Given the description of an element on the screen output the (x, y) to click on. 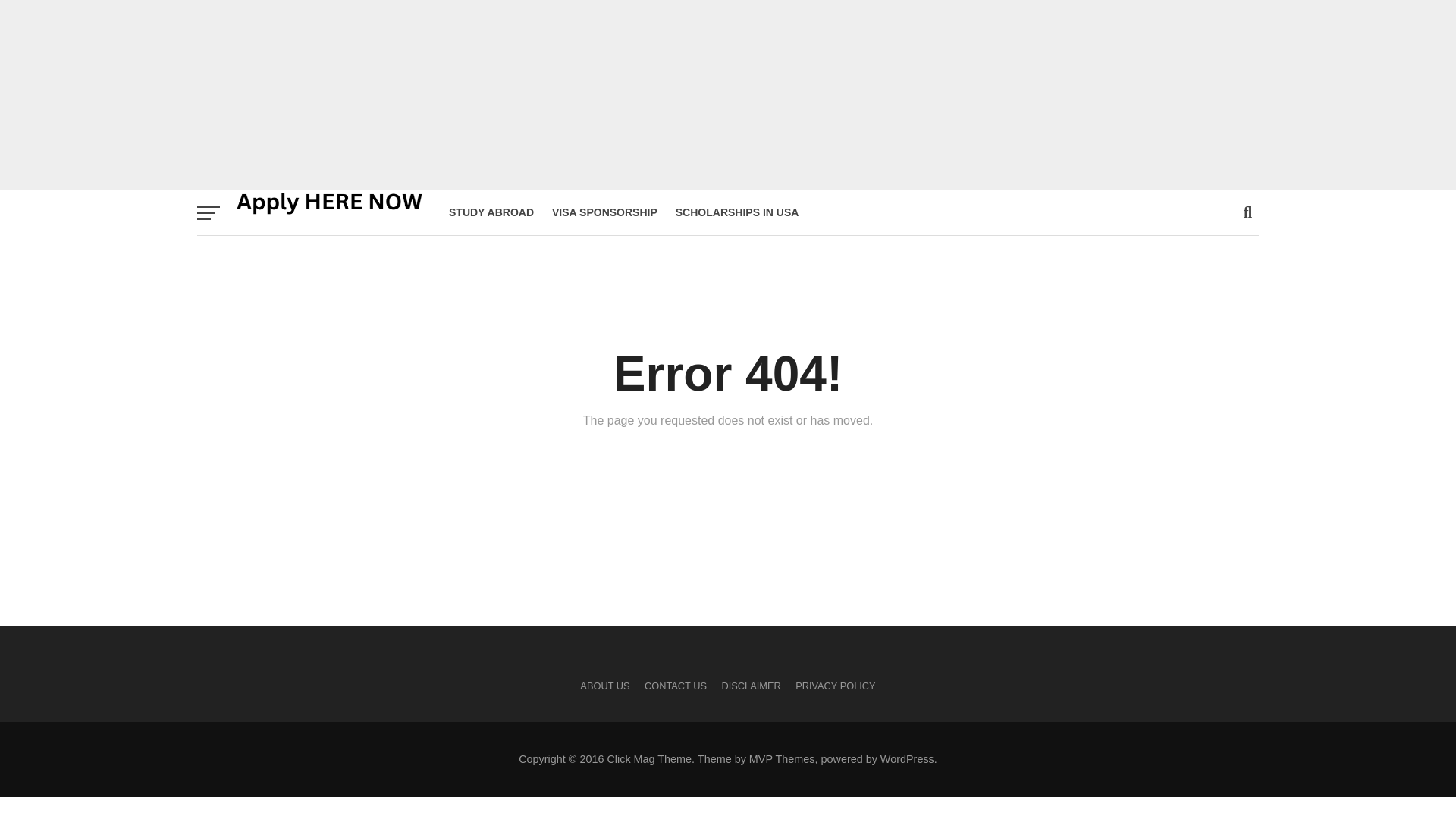
SCHOLARSHIPS IN USA (737, 212)
CONTACT US (675, 685)
DISCLAIMER (750, 685)
PRIVACY POLICY (835, 685)
STUDY ABROAD (491, 212)
ABOUT US (603, 685)
VISA SPONSORSHIP (604, 212)
